Given the description of an element on the screen output the (x, y) to click on. 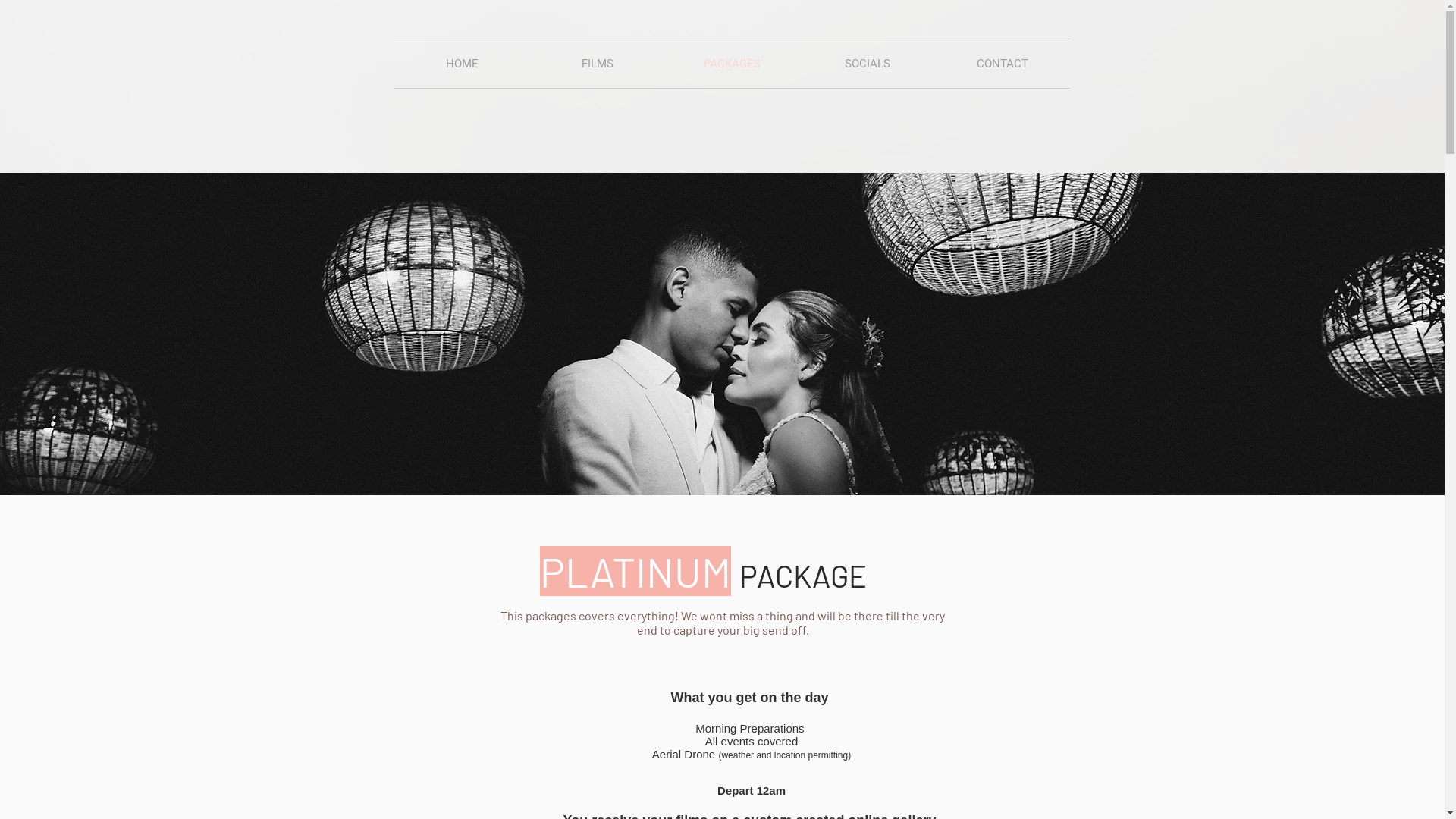
CONTACT Element type: text (1001, 63)
SOCIALS Element type: text (866, 63)
FILMS Element type: text (596, 63)
HOME Element type: text (462, 63)
PACKAGES Element type: text (731, 63)
